Given the description of an element on the screen output the (x, y) to click on. 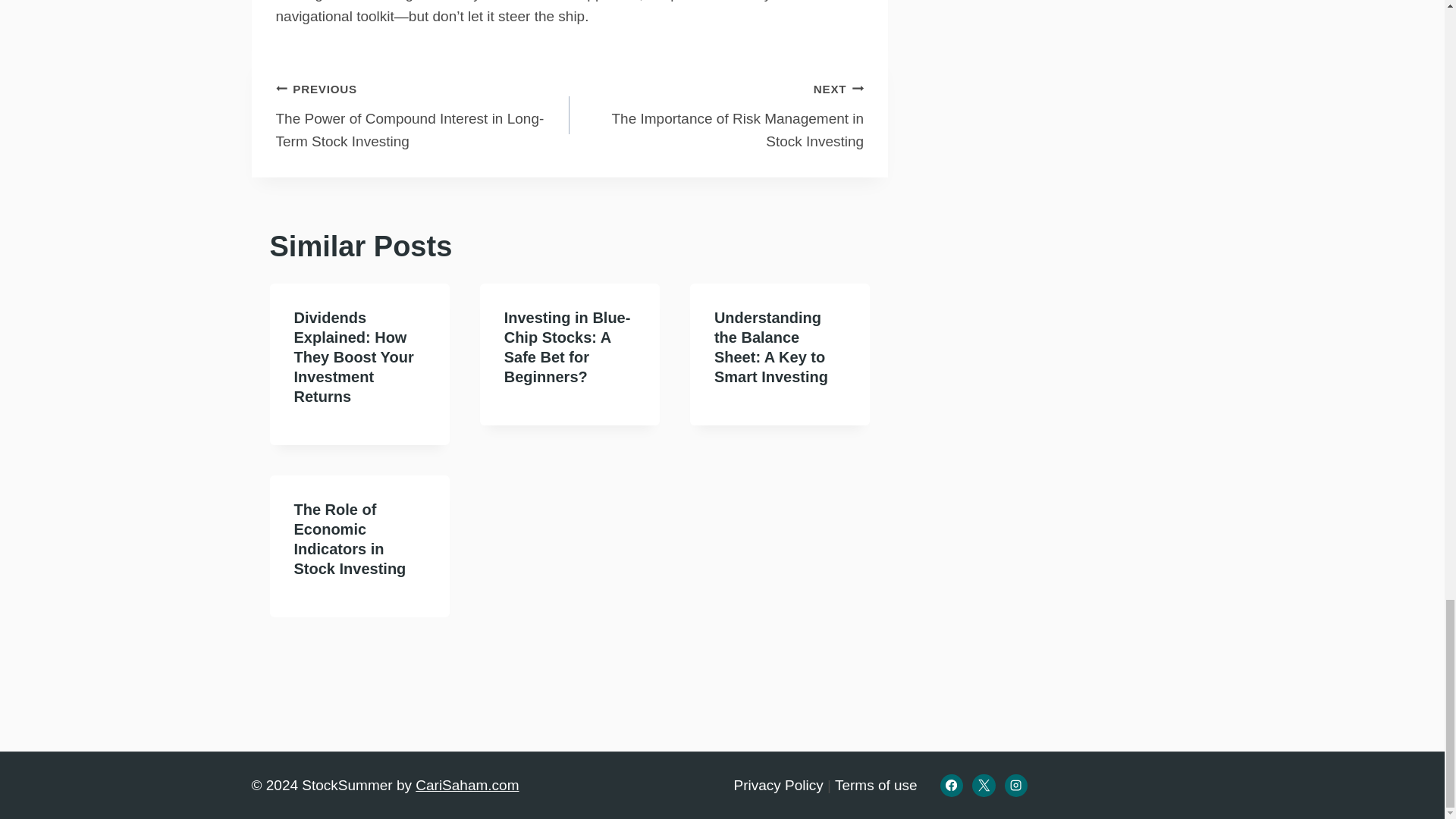
Privacy Policy (778, 785)
Understanding the Balance Sheet: A Key to Smart Investing (771, 346)
Investing in Blue-Chip Stocks: A Safe Bet for Beginners? (566, 346)
Dividends Explained: How They Boost Your Investment Returns (353, 356)
CariSaham.com (466, 785)
The Role of Economic Indicators in Stock Investing (350, 539)
Terms of use (875, 785)
